Given the description of an element on the screen output the (x, y) to click on. 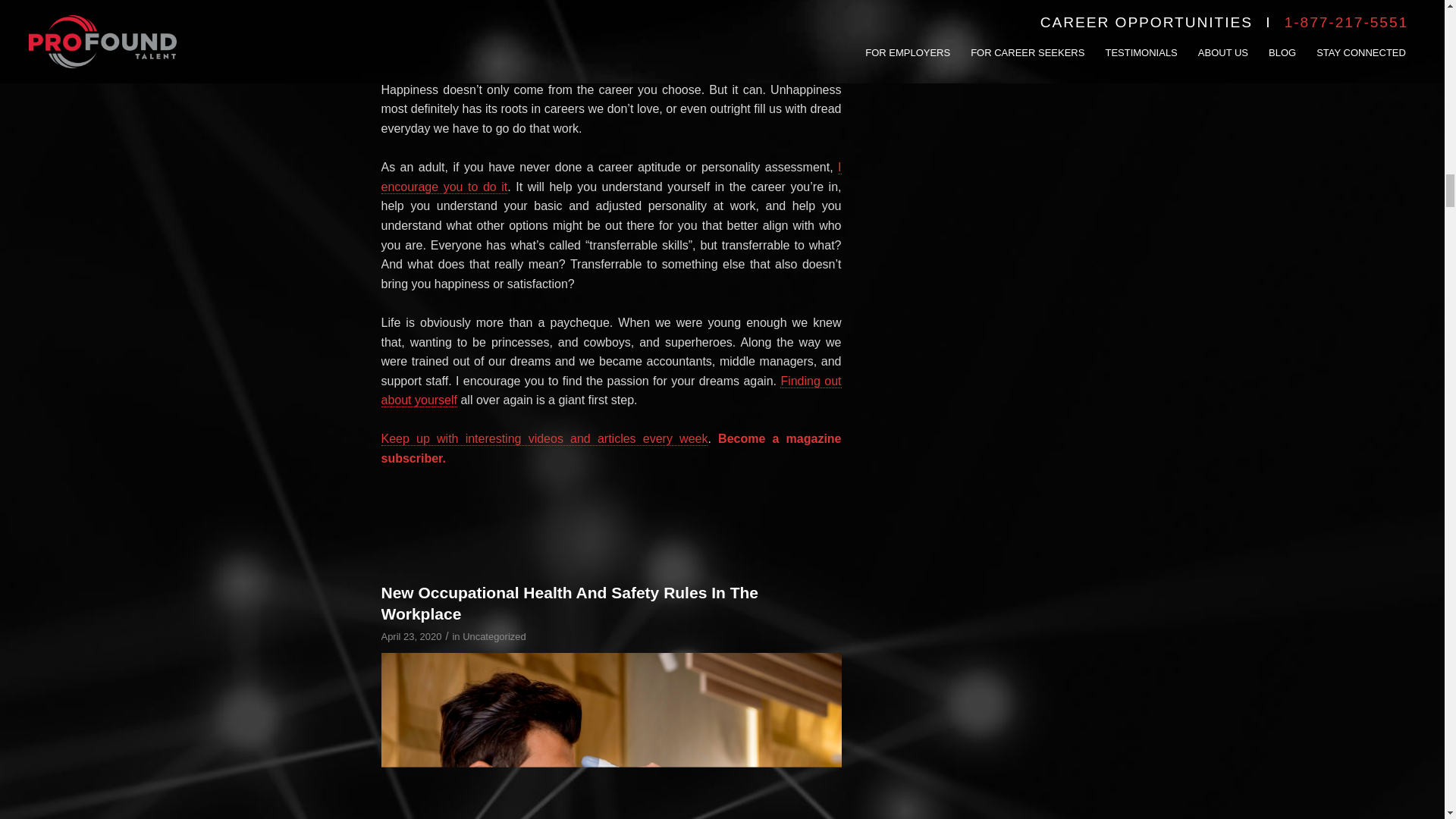
I encourage you to do it (610, 177)
Finding out about yourself (610, 390)
